Given the description of an element on the screen output the (x, y) to click on. 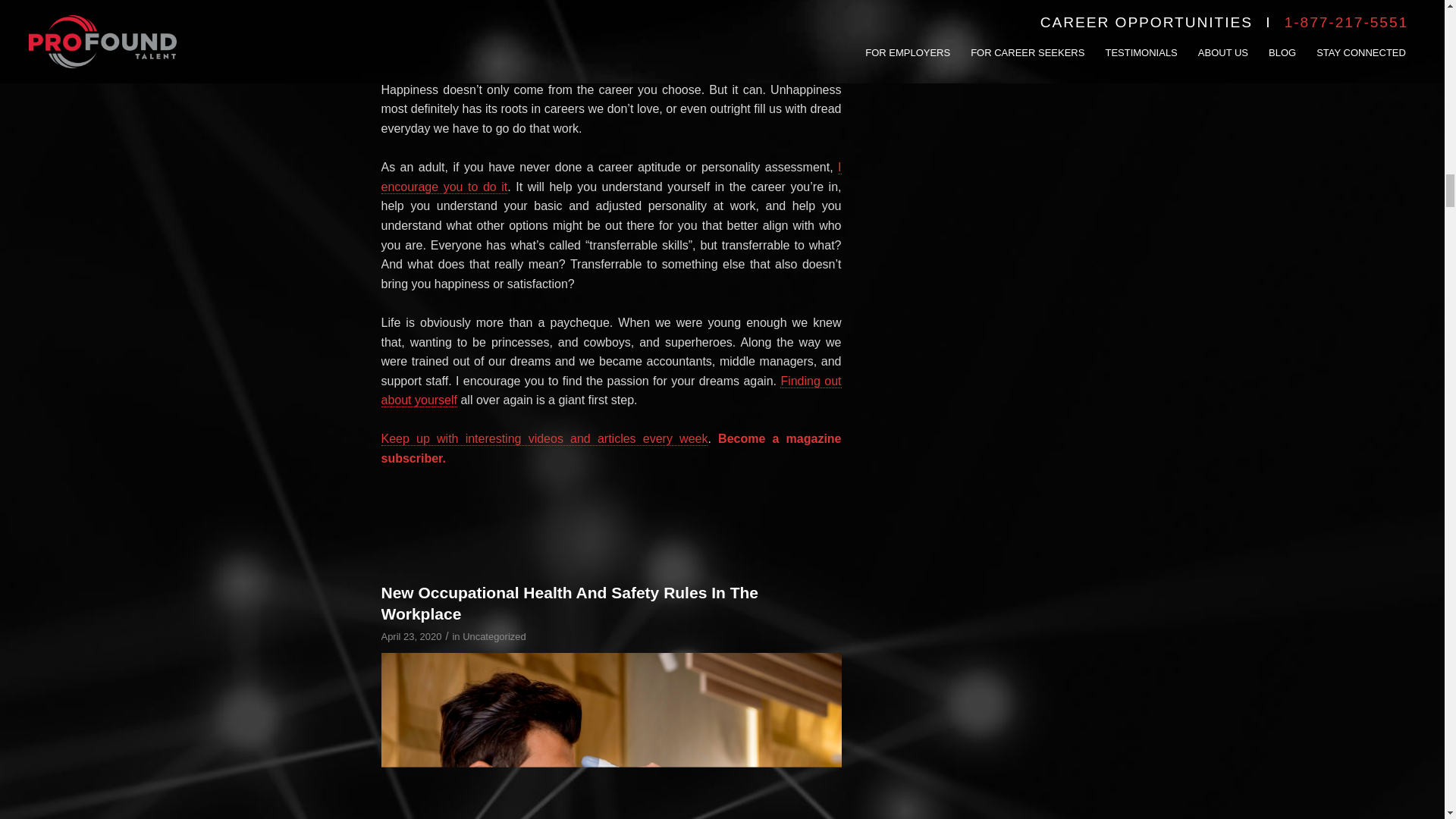
I encourage you to do it (610, 177)
Finding out about yourself (610, 390)
